Given the description of an element on the screen output the (x, y) to click on. 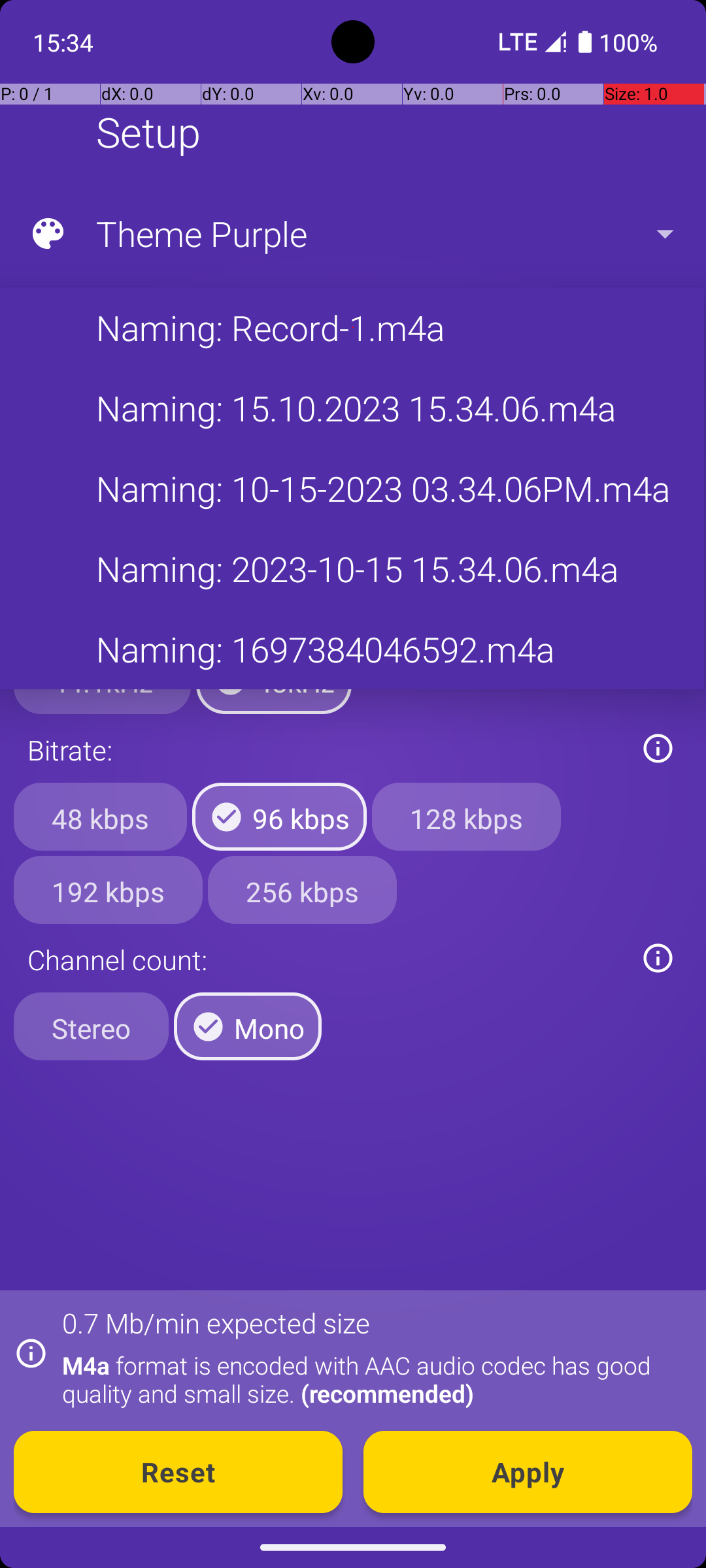
Naming: 15.10.2023 15.34.06.m4a Element type: android.widget.TextView (352, 407)
Naming: 10-15-2023 03.34.06PM.m4a Element type: android.widget.TextView (352, 488)
Naming: 2023-10-15 15.34.06.m4a Element type: android.widget.TextView (352, 568)
Naming: 1697384046592.m4a Element type: android.widget.TextView (352, 648)
